Given the description of an element on the screen output the (x, y) to click on. 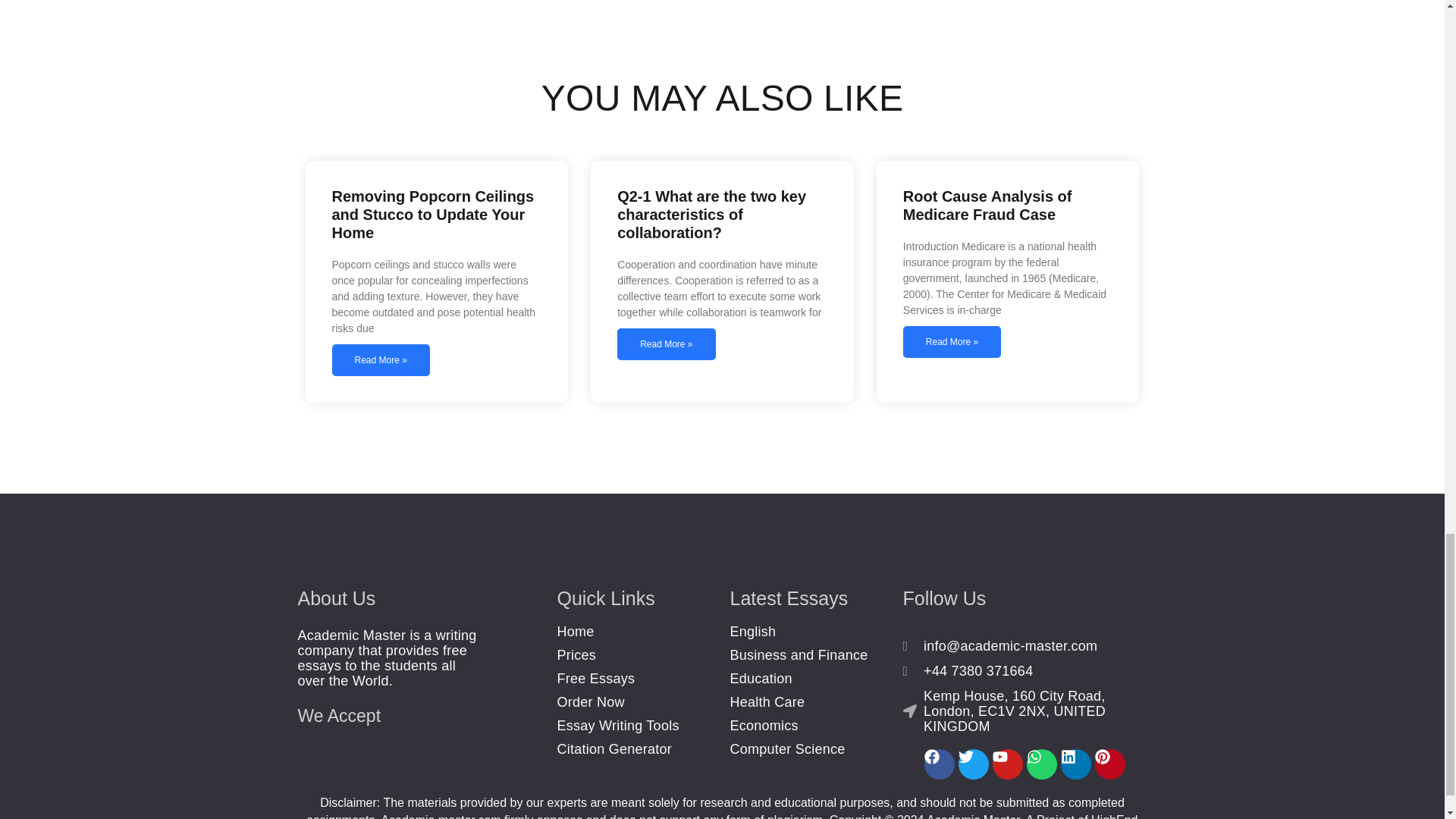
Removing Popcorn Ceilings and Stucco to Update Your Home (432, 214)
Q2-1 What are the two key characteristics of collaboration? (711, 214)
